Given the description of an element on the screen output the (x, y) to click on. 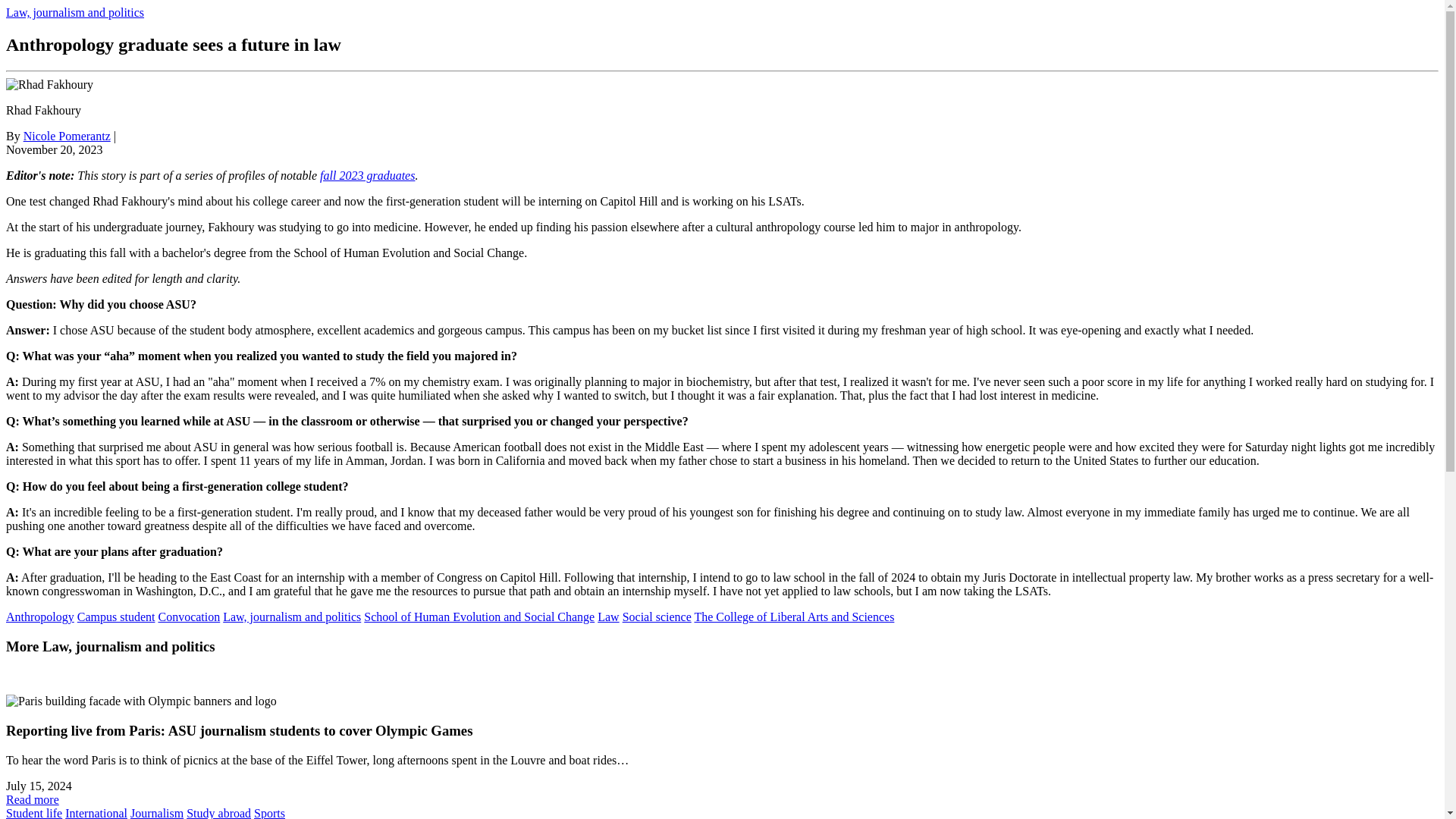
Read more (32, 799)
Law, journalism and politics (291, 616)
The College of Liberal Arts and Sciences (793, 616)
Nicole Pomerantz (66, 135)
Campus student (116, 616)
Student life (33, 812)
School of Human Evolution and Social Change (479, 616)
fall 2023 graduates (367, 174)
Law (607, 616)
International (96, 812)
Rhad Fakhoury (49, 84)
Journalism (157, 812)
Sports (269, 812)
Convocation (188, 616)
Study abroad (218, 812)
